Given the description of an element on the screen output the (x, y) to click on. 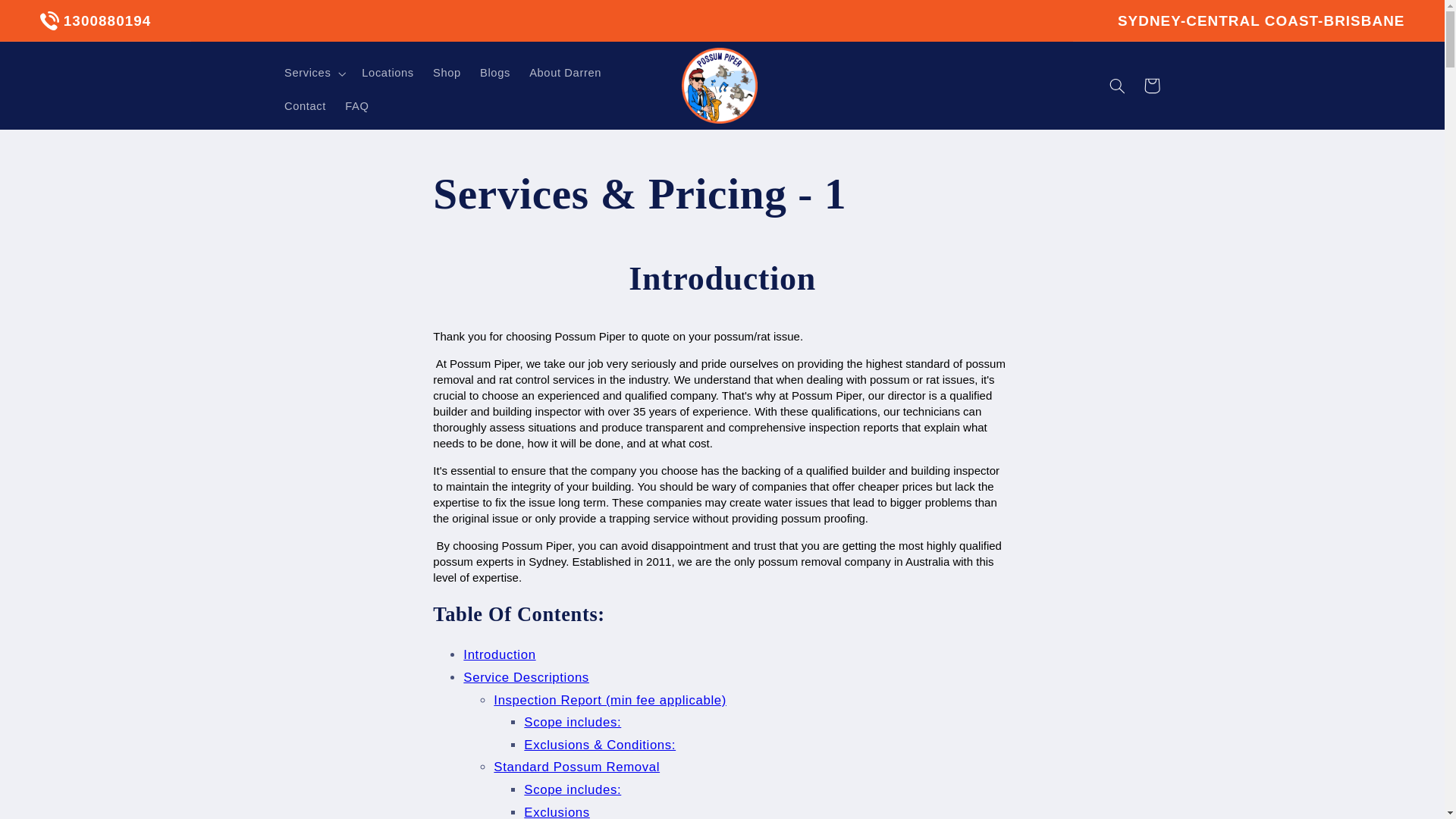
About Darren (565, 73)
Standard Possum Removal (576, 766)
Locations (387, 73)
Skip to content (48, 18)
FAQ (357, 106)
Cart (1151, 85)
Service Descriptions (526, 677)
Shop (446, 73)
Contact (304, 106)
Scope includes: (572, 721)
Blogs (494, 73)
Introduction (499, 654)
